Given the description of an element on the screen output the (x, y) to click on. 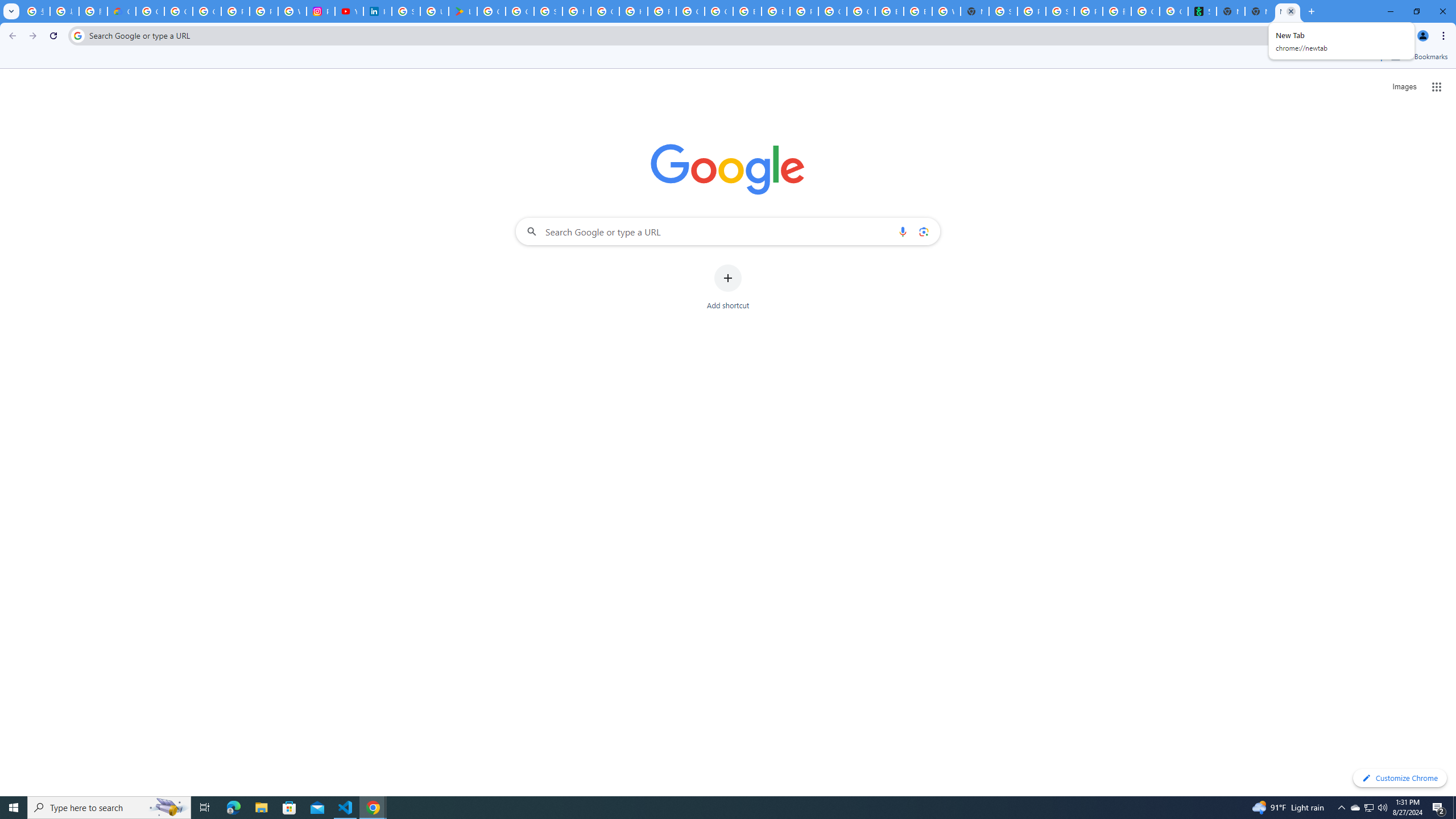
Google Cloud Platform (860, 11)
Browse Chrome as a guest - Computer - Google Chrome Help (775, 11)
Search Google or type a URL (727, 230)
Search by image (922, 230)
Customize Chrome (1399, 778)
Google Workspace - Specific Terms (519, 11)
New Tab (974, 11)
Sign in - Google Accounts (547, 11)
